Given the description of an element on the screen output the (x, y) to click on. 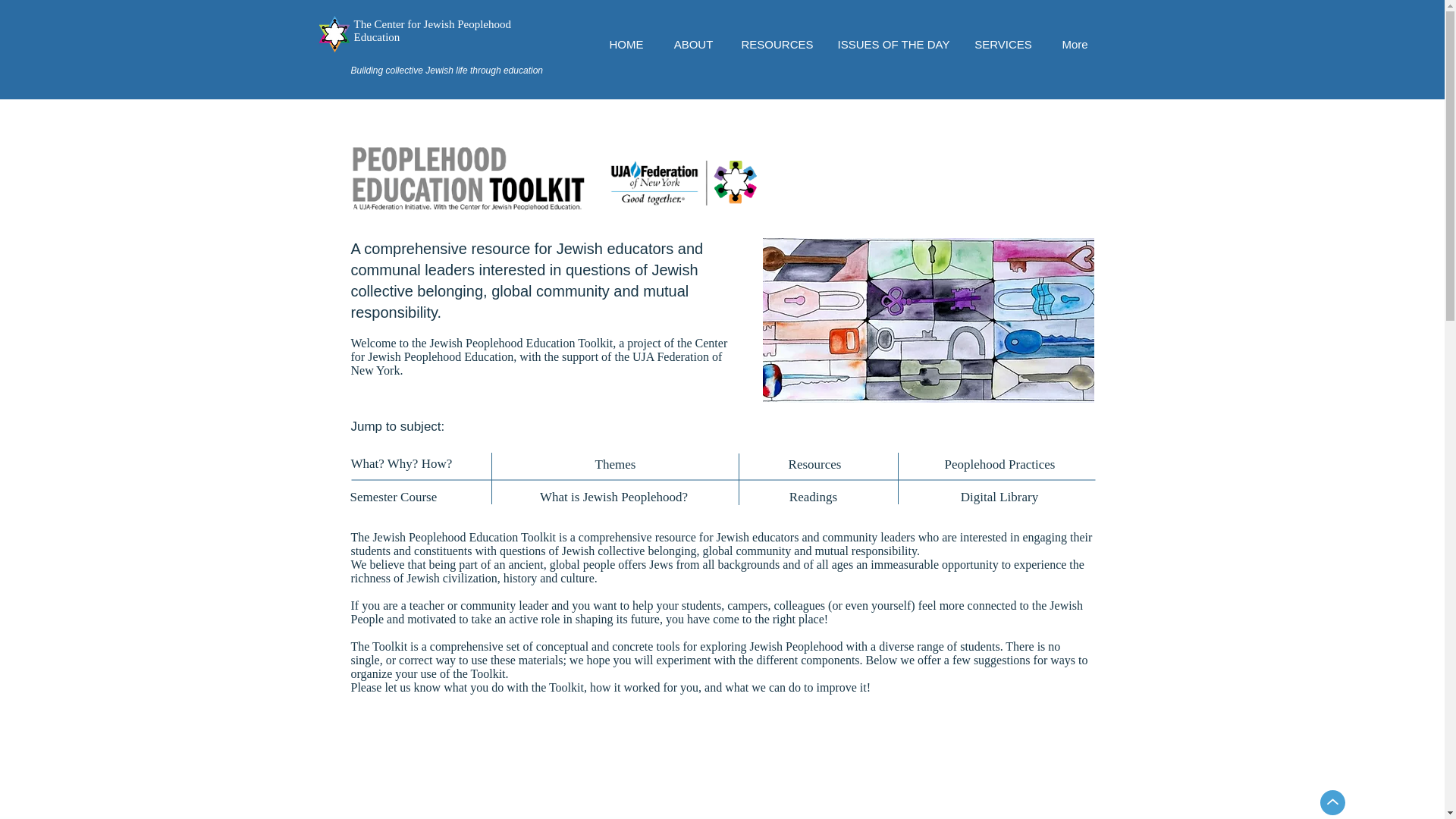
What is Jewish Peoplehood? (613, 496)
RESOURCES (776, 44)
ABOUT (693, 44)
The Center for Jewish Peoplehood Education (432, 30)
UJA Federation of New York (536, 363)
ISSUES OF THE DAY (892, 44)
Semester Course (394, 496)
What? Why? How? (400, 463)
Peoplehood Practices (999, 464)
Readings (813, 496)
Resources (815, 464)
Themes (615, 464)
Digital Library (999, 496)
HOME (626, 44)
